Given the description of an element on the screen output the (x, y) to click on. 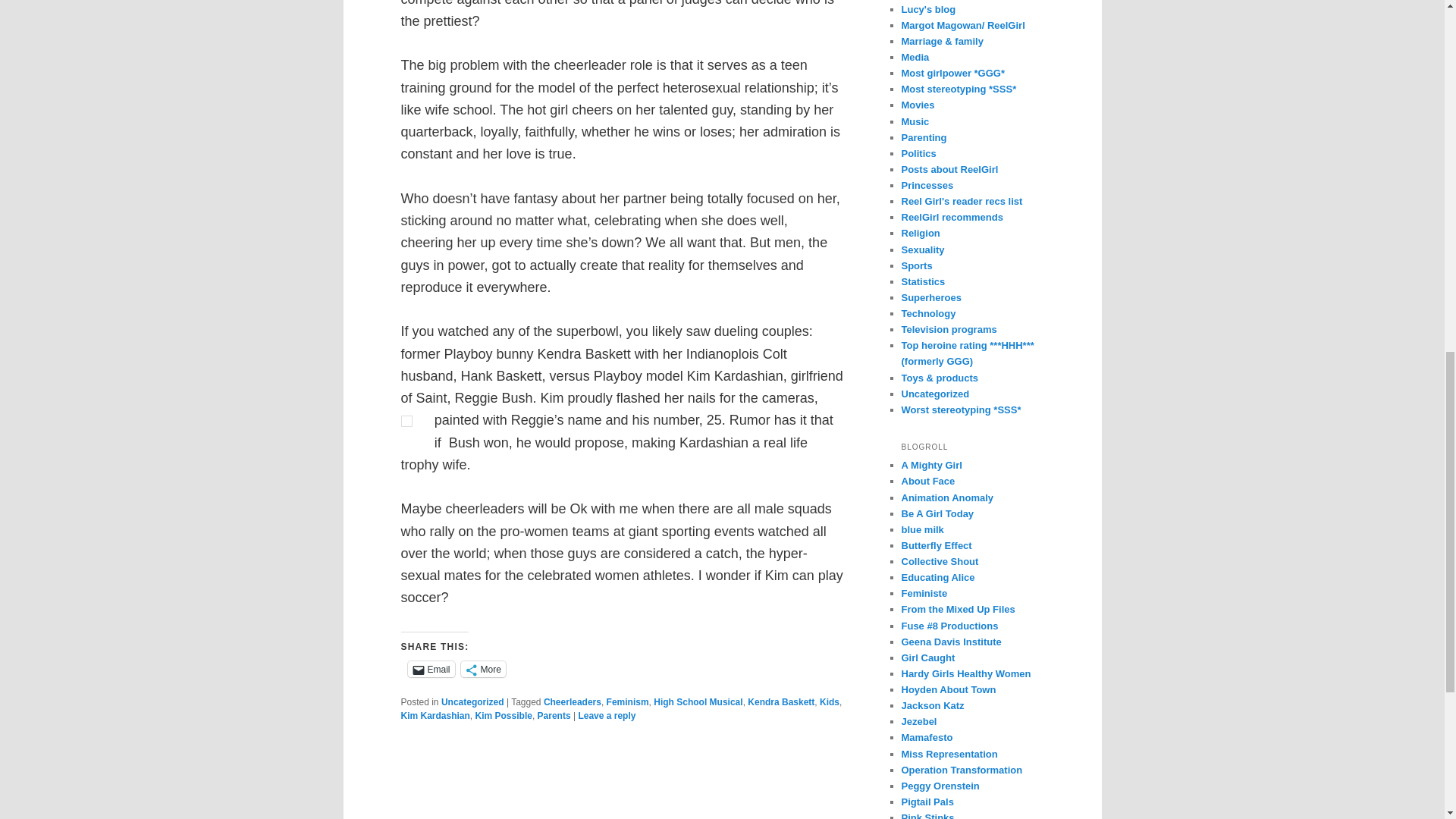
Kim Possible (504, 715)
Kendra Baskett (780, 701)
High School Musical (697, 701)
Uncategorized (472, 701)
More (483, 668)
Kids (829, 701)
Kim Kardashian (434, 715)
Lucy's blog (928, 9)
Cheerleaders (572, 701)
Email (430, 668)
Parents (553, 715)
Feminism (628, 701)
Leave a reply (606, 715)
Click to email a link to a friend (430, 668)
